Given the description of an element on the screen output the (x, y) to click on. 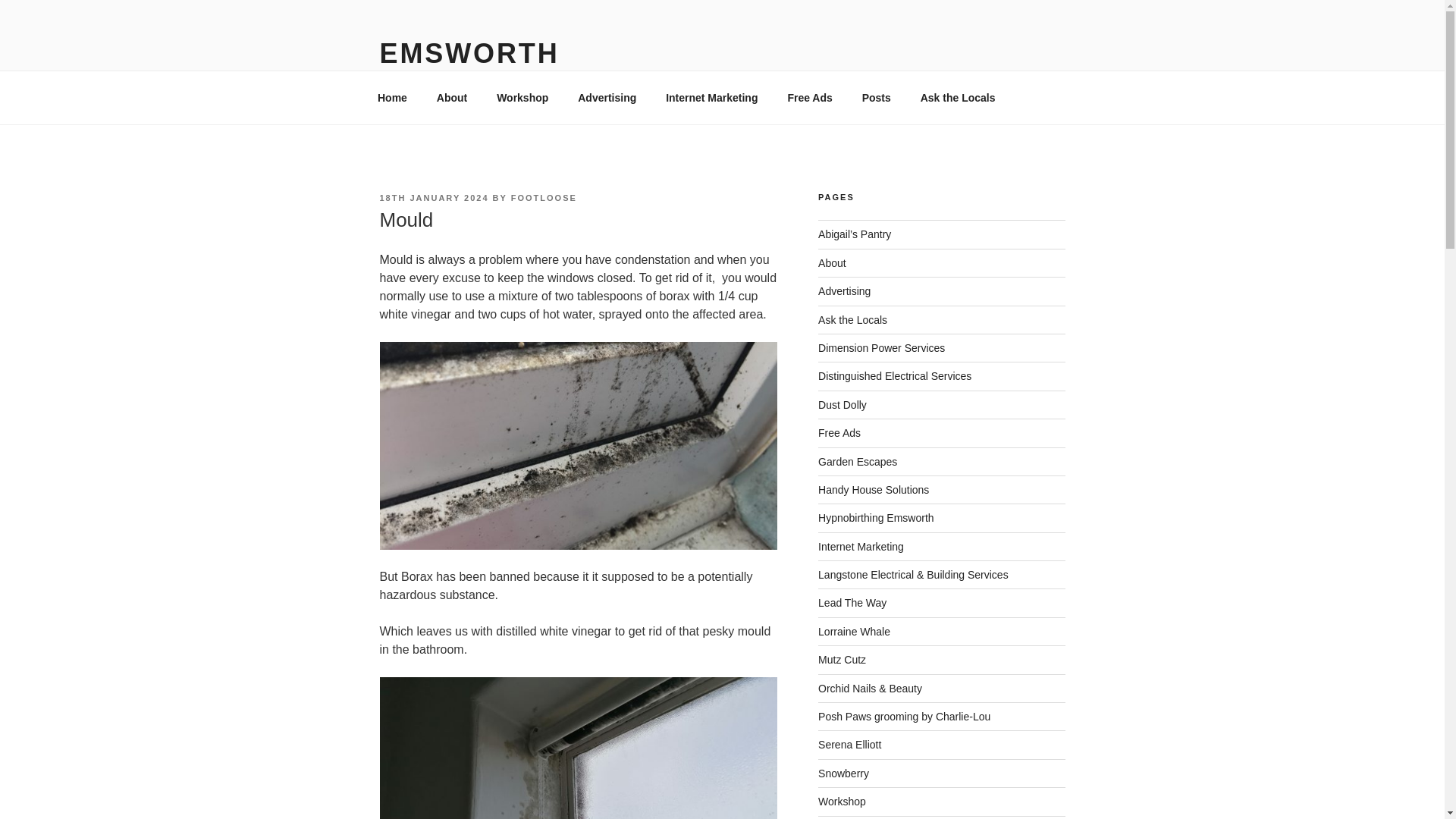
About (831, 263)
FOOTLOOSE (543, 197)
Posh Paws grooming by Charlie-Lou (904, 716)
18TH JANUARY 2024 (432, 197)
About (451, 97)
EMSWORTH (468, 52)
Serena Elliott (849, 744)
Home (392, 97)
Dimension Power Services (881, 347)
Handy House Solutions (873, 490)
